Given the description of an element on the screen output the (x, y) to click on. 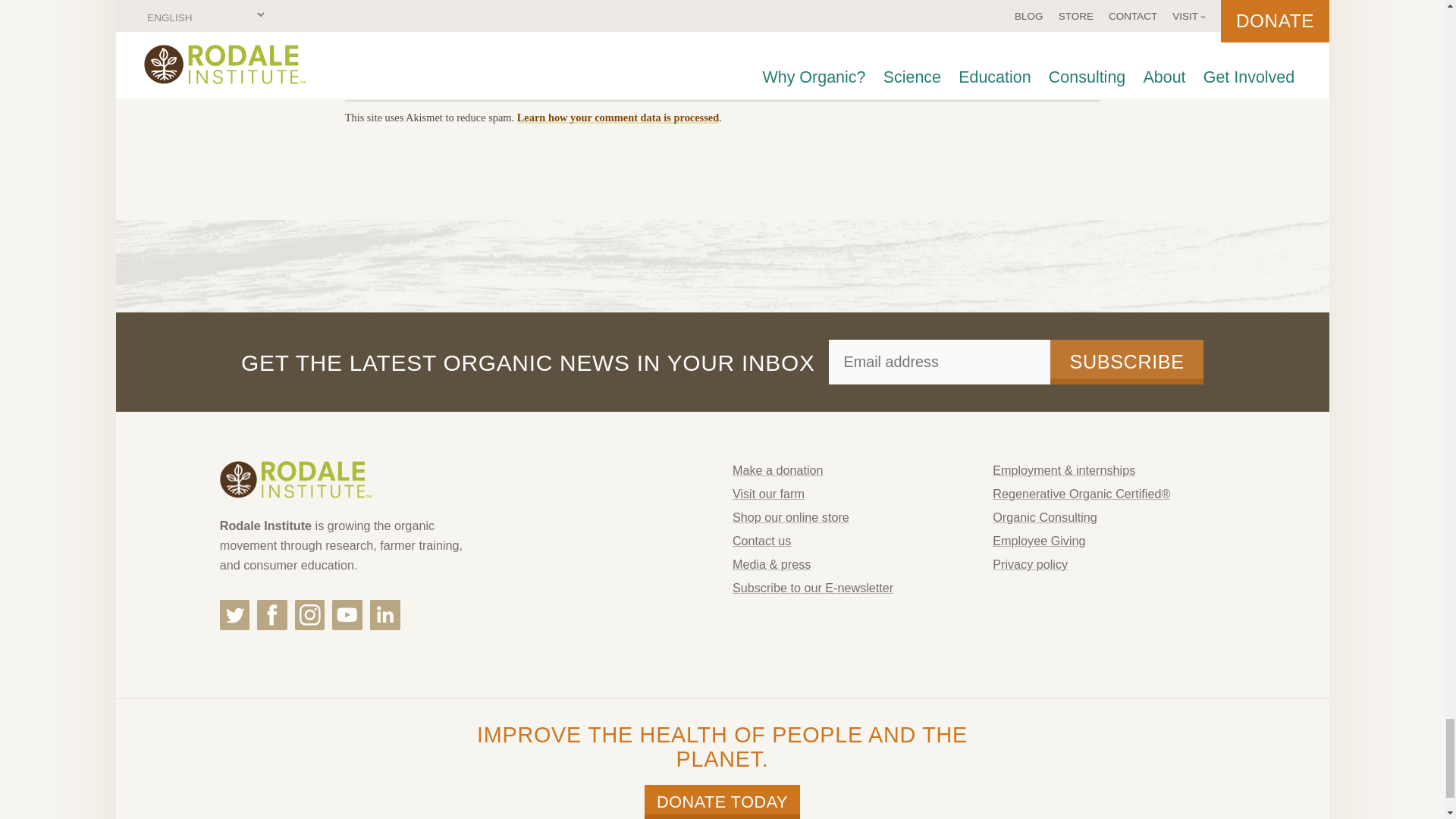
Subscribe (1126, 361)
Visit Rodale's youtube page (346, 614)
Visit Rodale's Linked In page (384, 614)
Visit Rodale's instagram page (309, 614)
Visit Rodale's facebook page (271, 614)
Visit Rodale's twitter page (234, 614)
